Given the description of an element on the screen output the (x, y) to click on. 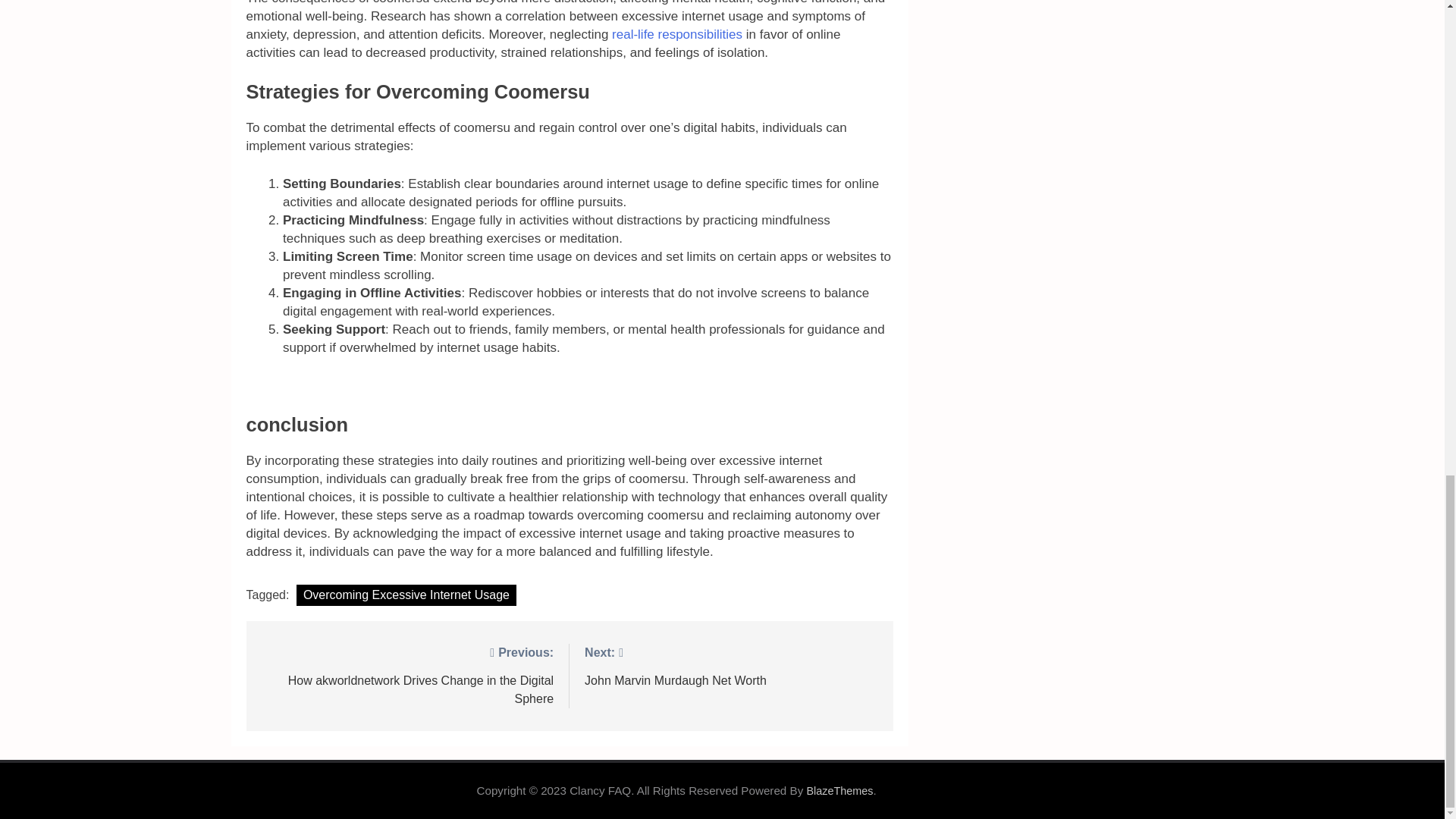
real-life responsibilities (675, 34)
Overcoming Excessive Internet Usage (406, 595)
